Given the description of an element on the screen output the (x, y) to click on. 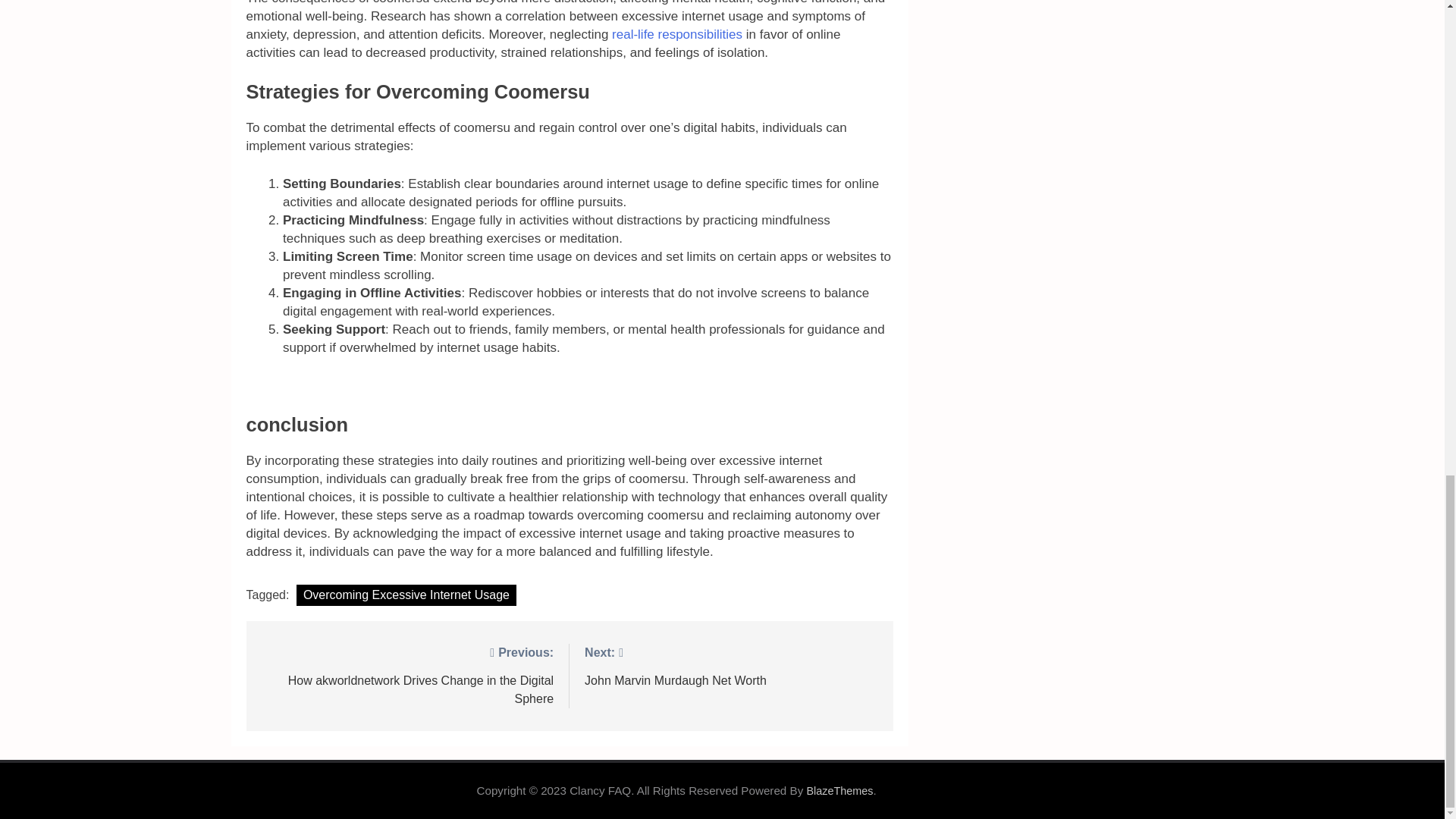
real-life responsibilities (675, 34)
Overcoming Excessive Internet Usage (406, 595)
